Given the description of an element on the screen output the (x, y) to click on. 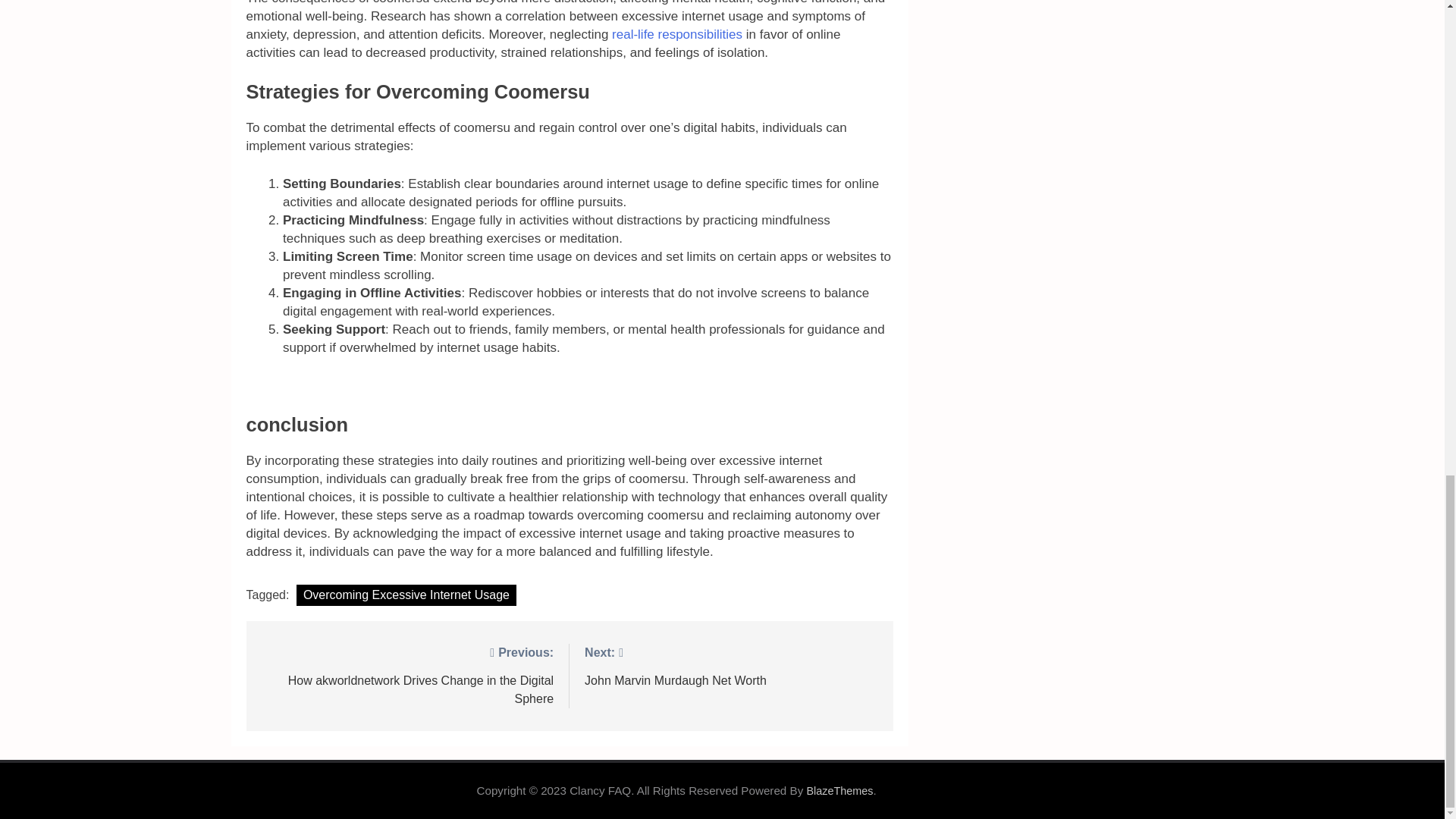
real-life responsibilities (675, 34)
Overcoming Excessive Internet Usage (406, 595)
